Given the description of an element on the screen output the (x, y) to click on. 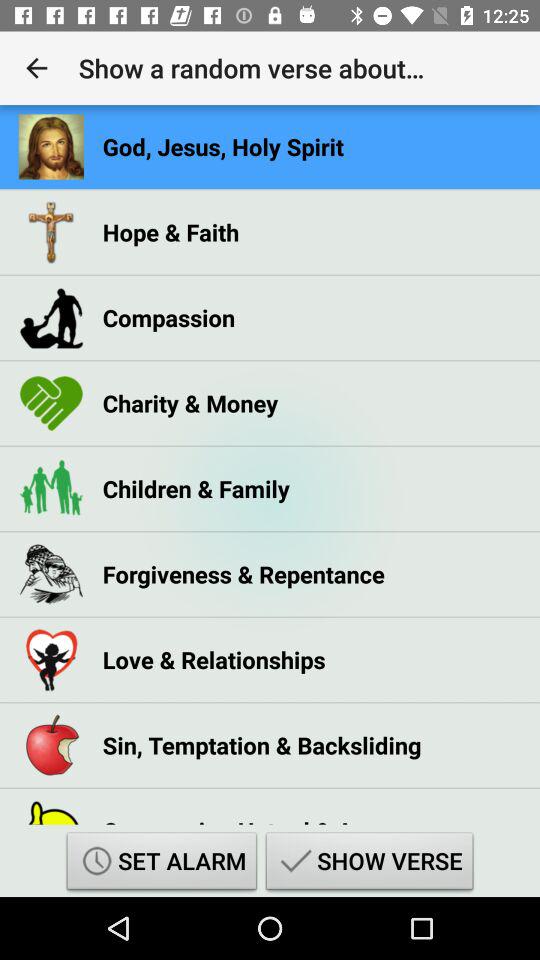
open item next to the show verse icon (161, 863)
